Given the description of an element on the screen output the (x, y) to click on. 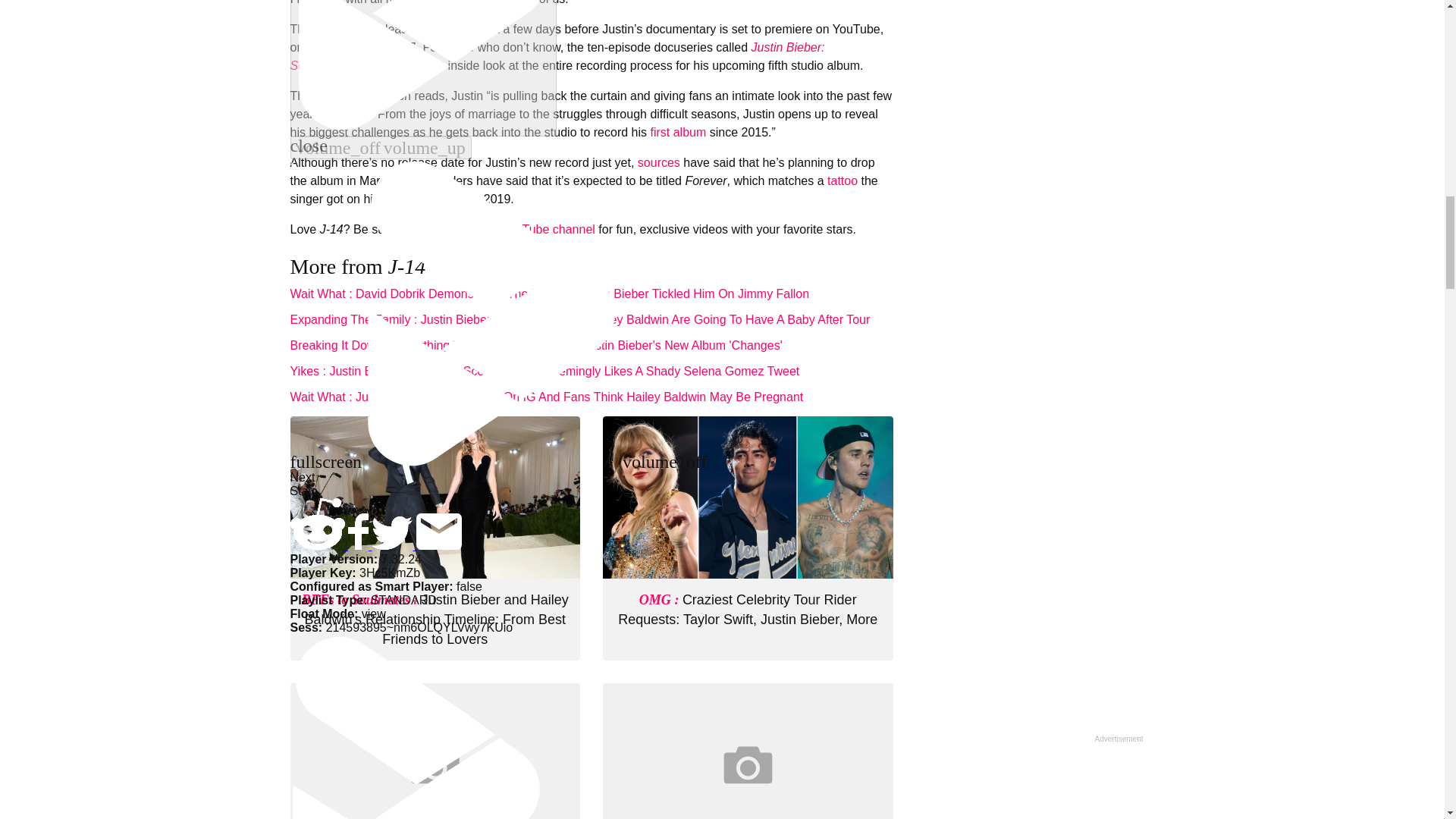
first album (677, 132)
Justin Bieber: Seasons (556, 56)
tattoo (842, 180)
subscribe to our YouTube channel (503, 228)
sources (658, 162)
